Given the description of an element on the screen output the (x, y) to click on. 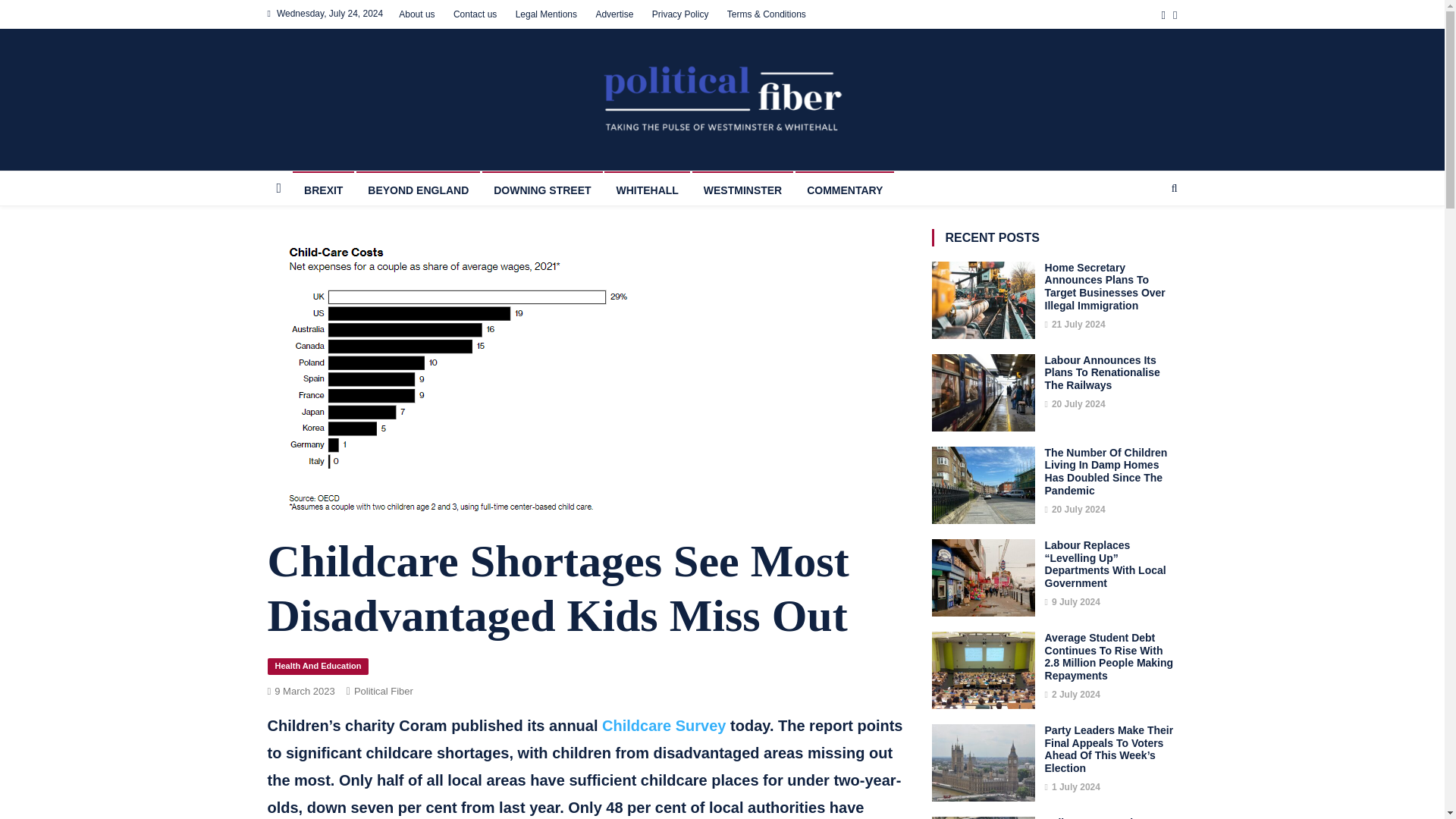
DOWNING STREET (541, 187)
WESTMINSTER (743, 187)
BEYOND ENGLAND (418, 187)
COMMENTARY (843, 187)
Childcare Survey (663, 725)
BREXIT (322, 187)
Health And Education (317, 666)
Political Fiber (383, 690)
GO (1145, 241)
Privacy Policy (680, 14)
About us (415, 14)
WHITEHALL (646, 187)
Advertise (614, 14)
9 March 2023 (304, 690)
Contact us (474, 14)
